Given the description of an element on the screen output the (x, y) to click on. 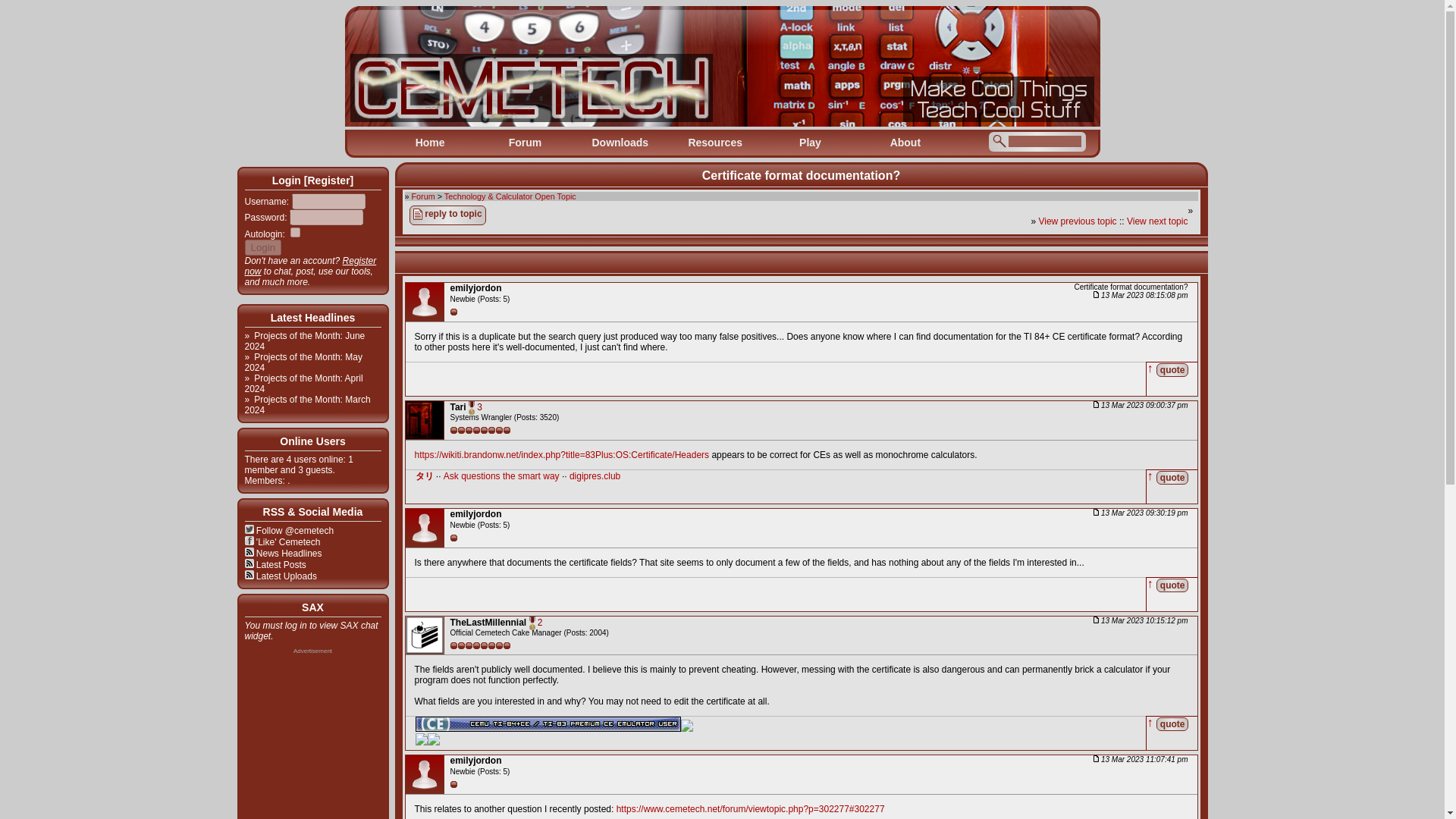
Downloads (620, 142)
13 Mar 2023 09:30:19 pm (1140, 512)
emilyjordon (475, 287)
Register now (309, 265)
Register (328, 180)
13 Mar 2023 09:00:37 pm (1140, 405)
Tari (457, 407)
Home (430, 142)
emilyjordon (475, 513)
Resources (714, 142)
Ask questions the smart way (501, 475)
quote (1172, 584)
Login (262, 247)
Login (262, 247)
digipres.club (594, 475)
